Given the description of an element on the screen output the (x, y) to click on. 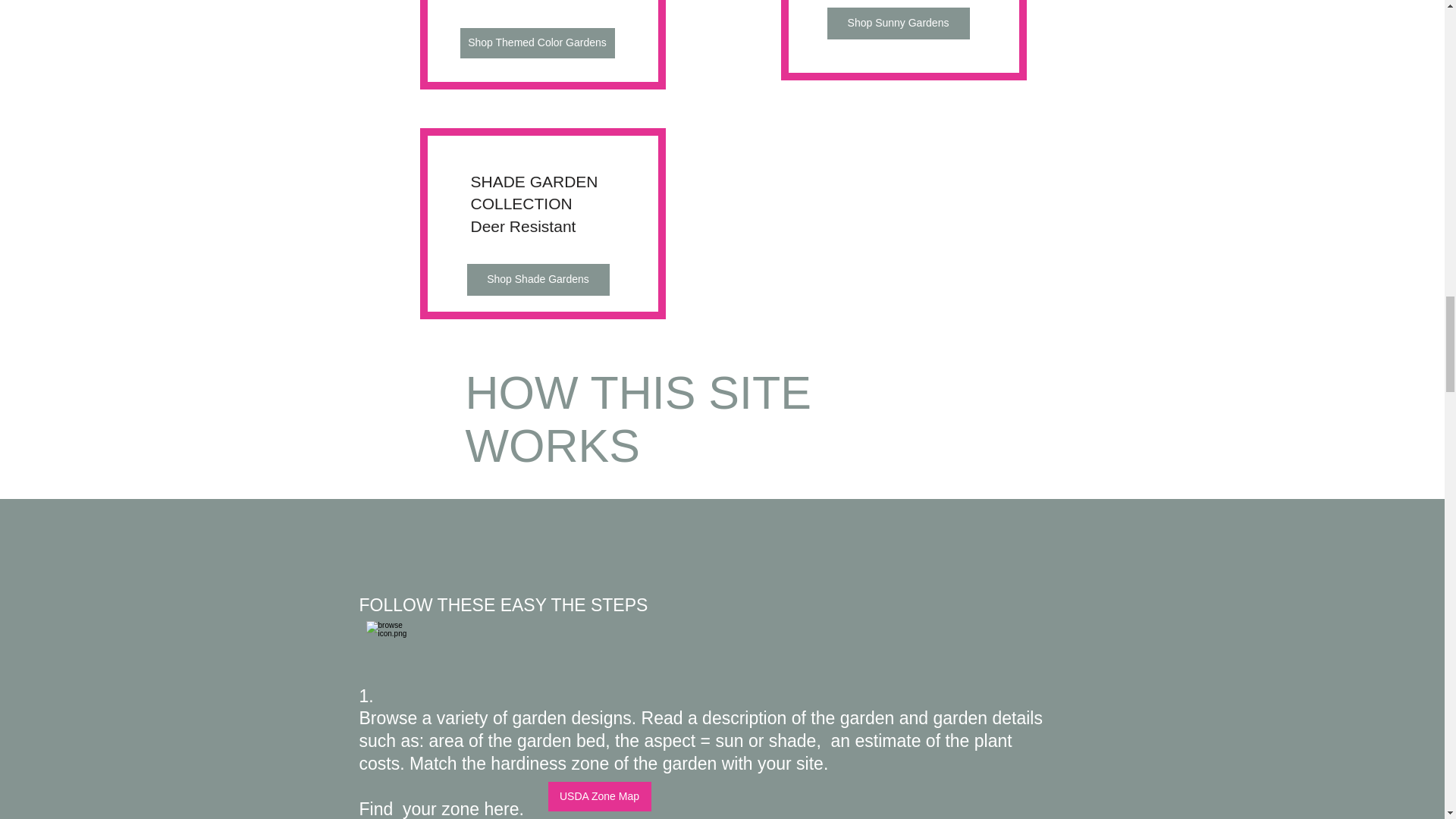
USDA Zone Map (598, 796)
Shop Themed Color Gardens (537, 42)
Shop Sunny Gardens (898, 23)
Shop Shade Gardens (538, 279)
